Given the description of an element on the screen output the (x, y) to click on. 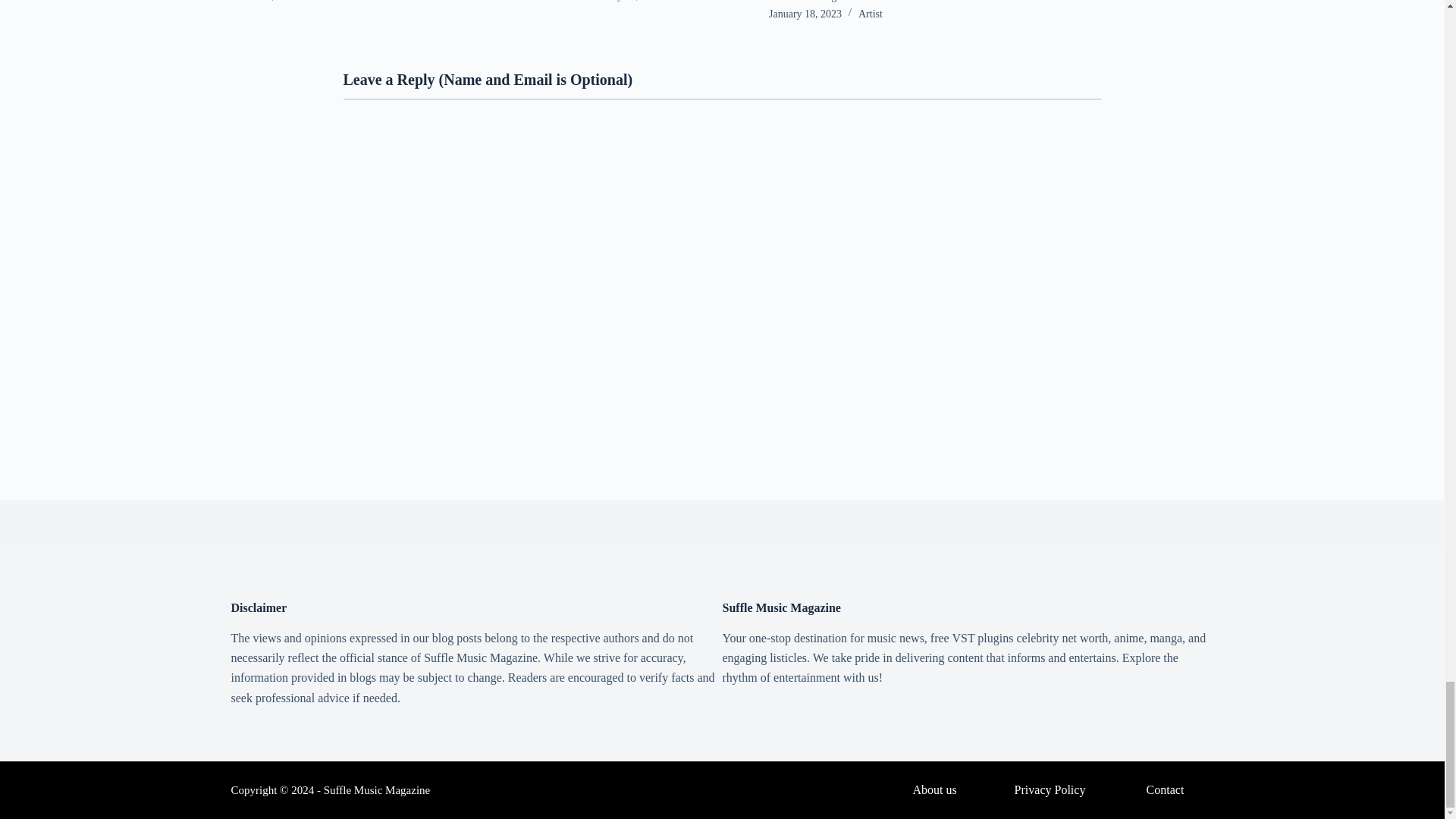
Posts by sufflemusicmagazine (813, 1)
